Given the description of an element on the screen output the (x, y) to click on. 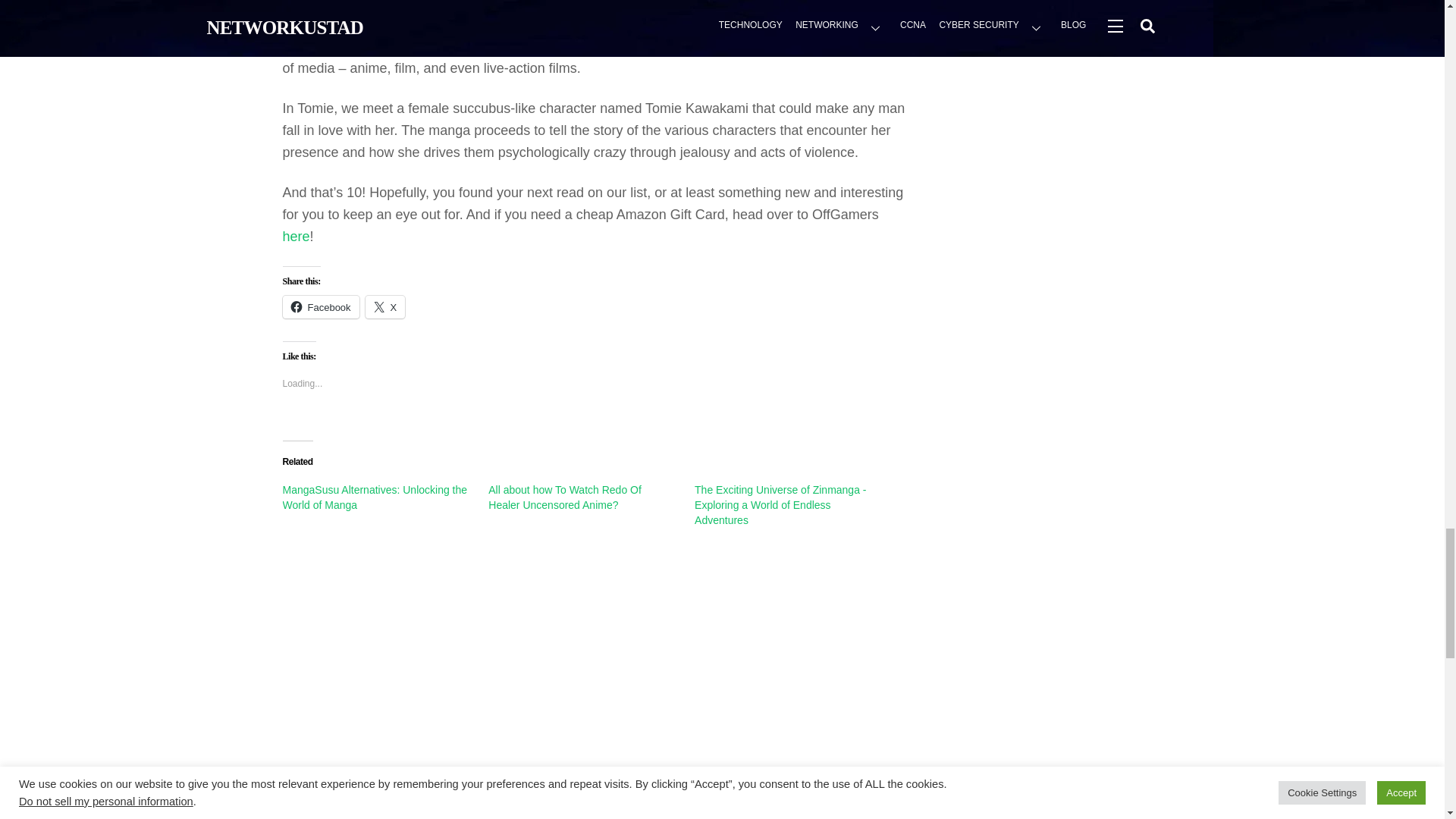
X (385, 306)
MangaSusu Alternatives: Unlocking the World of Manga (374, 497)
All about how To Watch Redo Of Healer Uncensored Anime? (564, 497)
Facebook (320, 306)
here (295, 236)
